Given the description of an element on the screen output the (x, y) to click on. 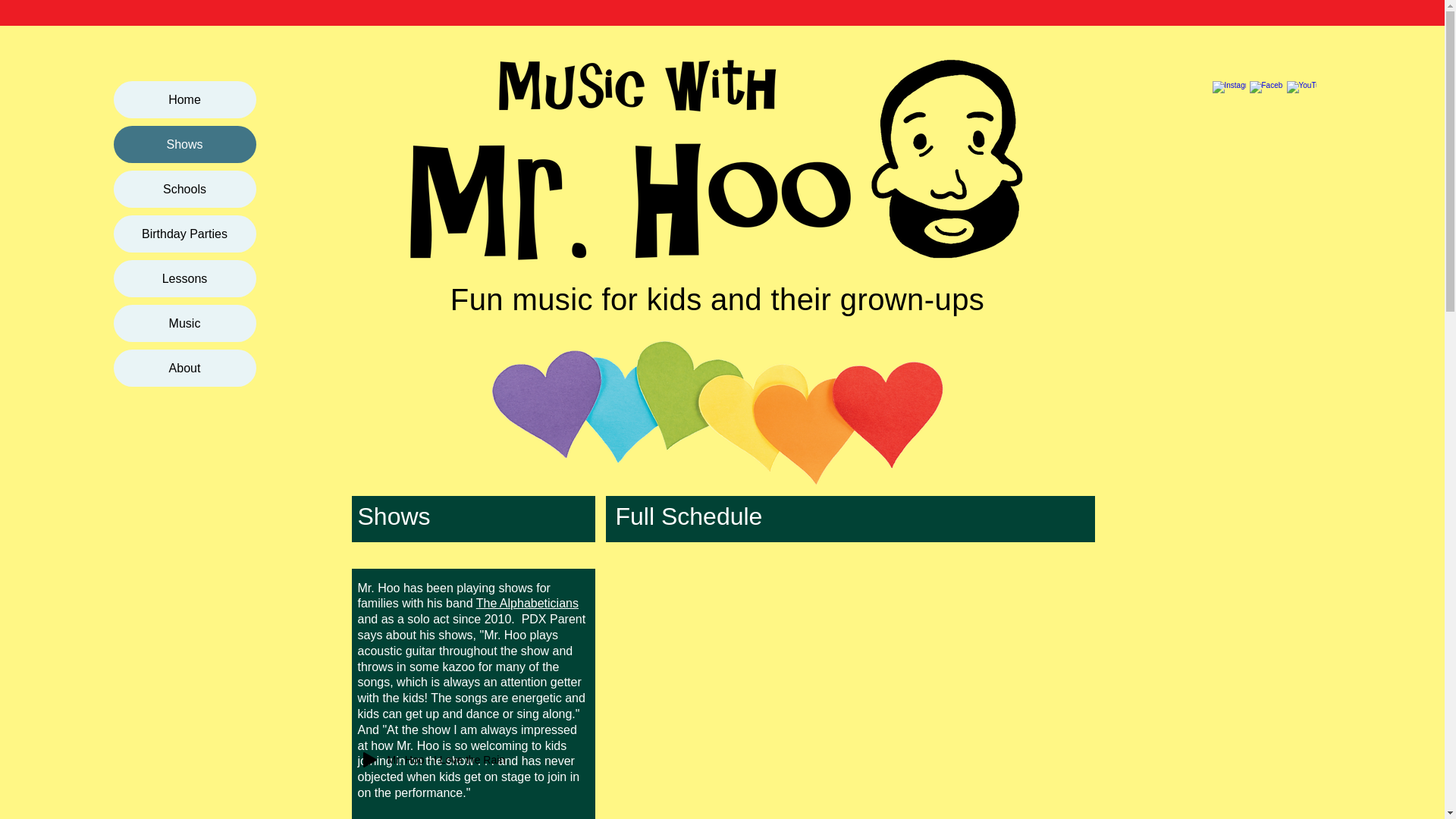
Birthday Parties (184, 233)
Lessons (184, 278)
Shows (184, 144)
Schools (184, 189)
About (184, 367)
Music (184, 323)
The Alphabeticians (527, 603)
Home (184, 99)
